Given the description of an element on the screen output the (x, y) to click on. 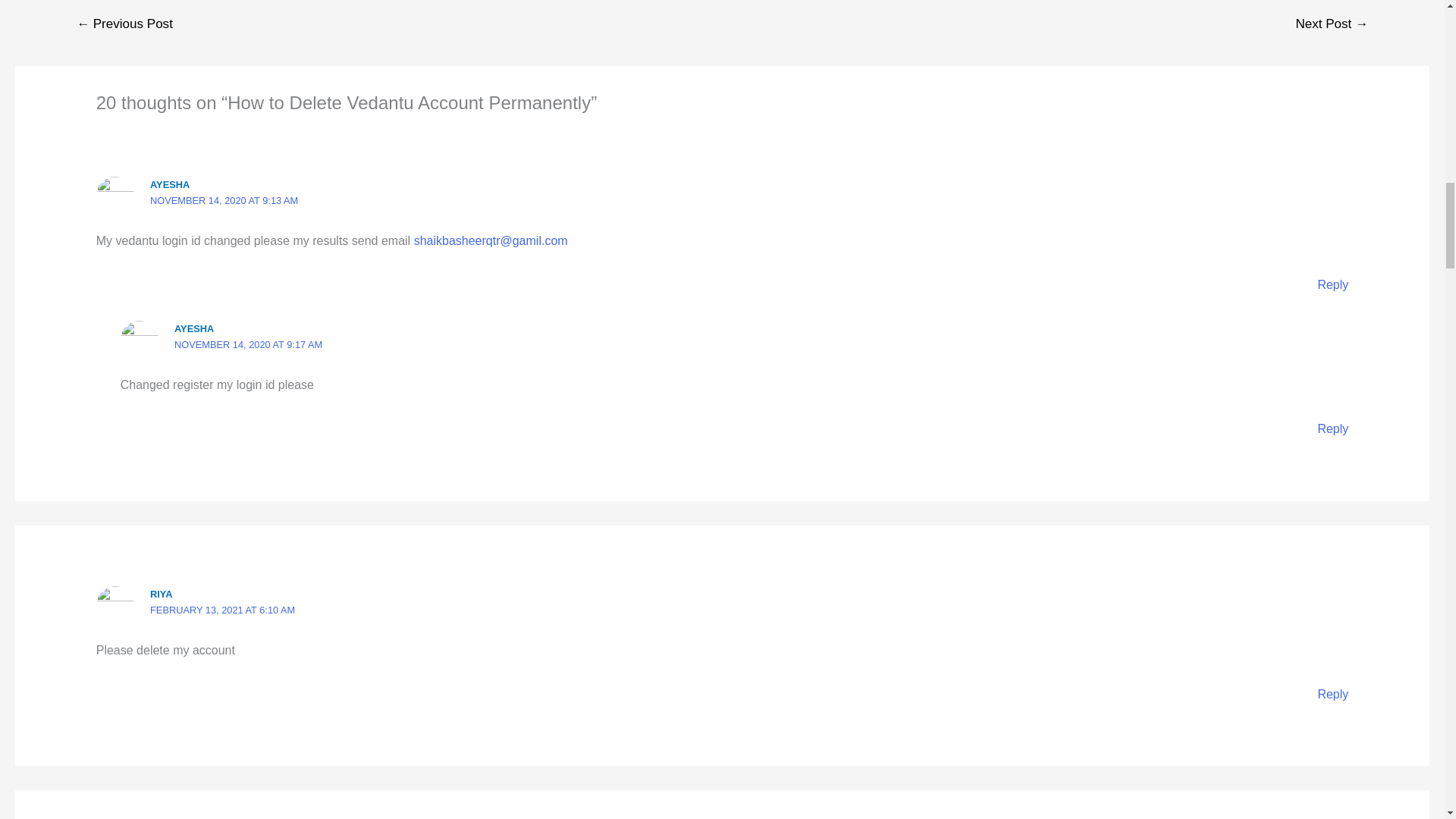
Reply (1332, 284)
NOVEMBER 14, 2020 AT 9:17 AM (247, 344)
NOVEMBER 14, 2020 AT 9:13 AM (223, 200)
FEBRUARY 13, 2021 AT 6:10 AM (222, 609)
Reply (1332, 428)
Reply (1332, 694)
